Given the description of an element on the screen output the (x, y) to click on. 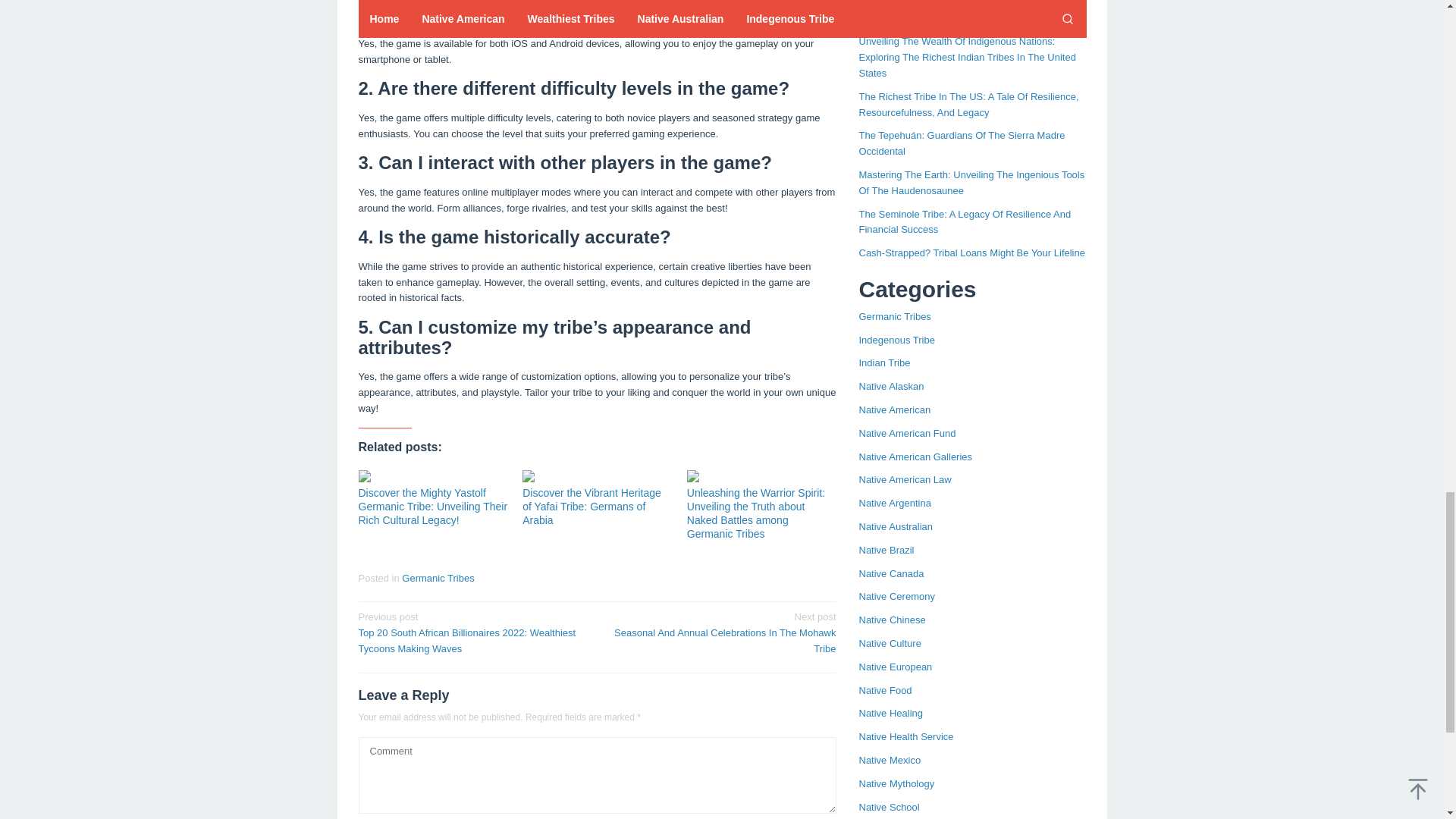
Germanic Tribes (437, 577)
